Given the description of an element on the screen output the (x, y) to click on. 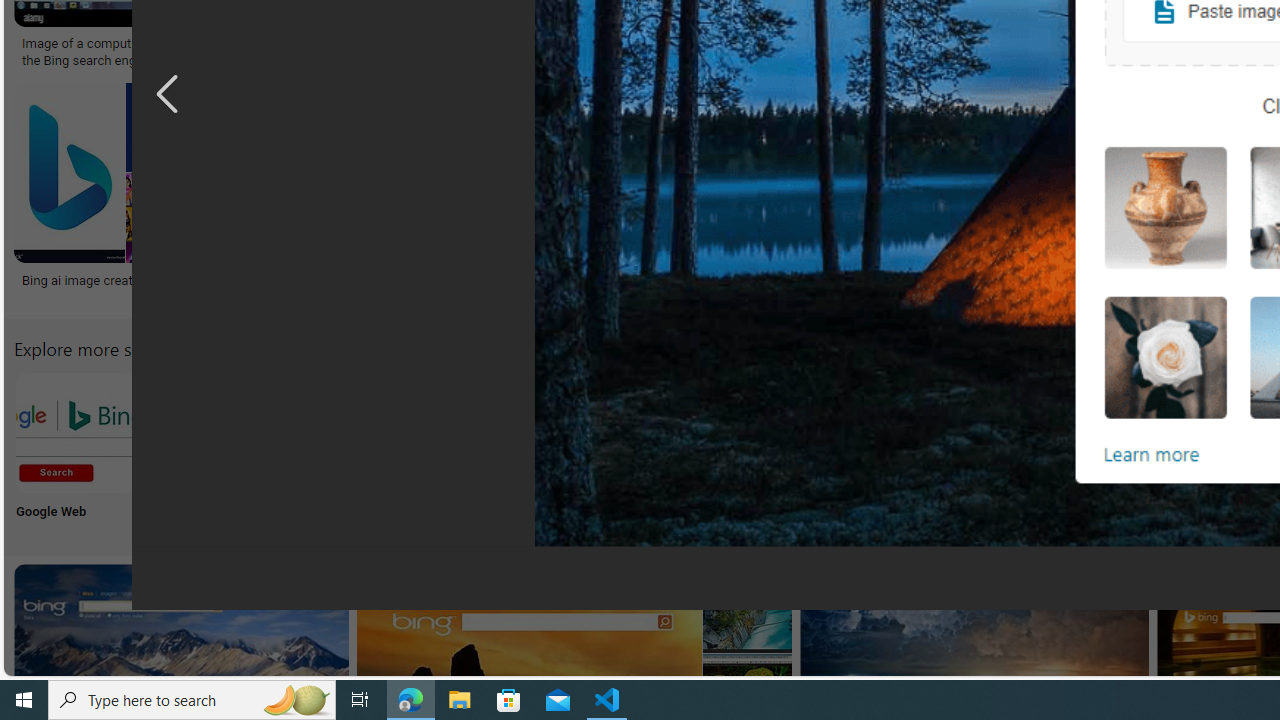
Bing Photo Search Microsoft Edge Microsoft Edge (472, 450)
Image Search Bing Engine (347, 44)
App Icon (735, 450)
Google Web (74, 450)
Image result for Bing Search Site (644, 172)
Bing Search App Icon App Icon (735, 450)
Bing Search App Icon (735, 432)
Bing Search Dark Mode Dark Mode (604, 450)
Image Search Bing Engine (423, 44)
Bing Clip ART SEARCH Clip Art (867, 450)
